Given the description of an element on the screen output the (x, y) to click on. 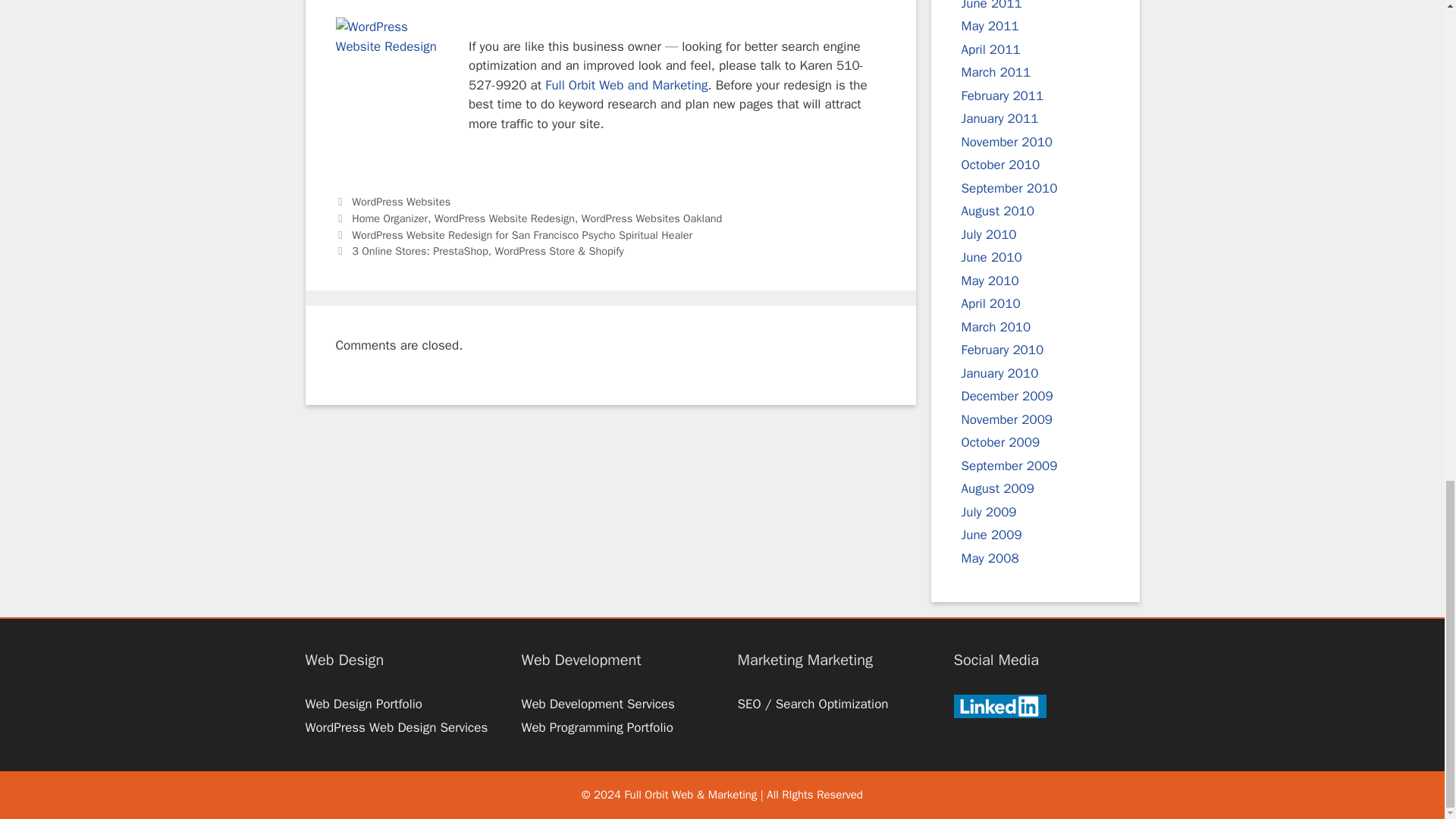
WordPress Website Redesign (504, 218)
WordPress Website Redesign (625, 84)
Home Organizer (390, 218)
WordPress Websites Oakland (651, 218)
Web Programming Portfolio (596, 727)
Full Orbit Web and Marketing (625, 84)
WordPress Websites (400, 201)
KarenFOWsm (391, 74)
